Given the description of an element on the screen output the (x, y) to click on. 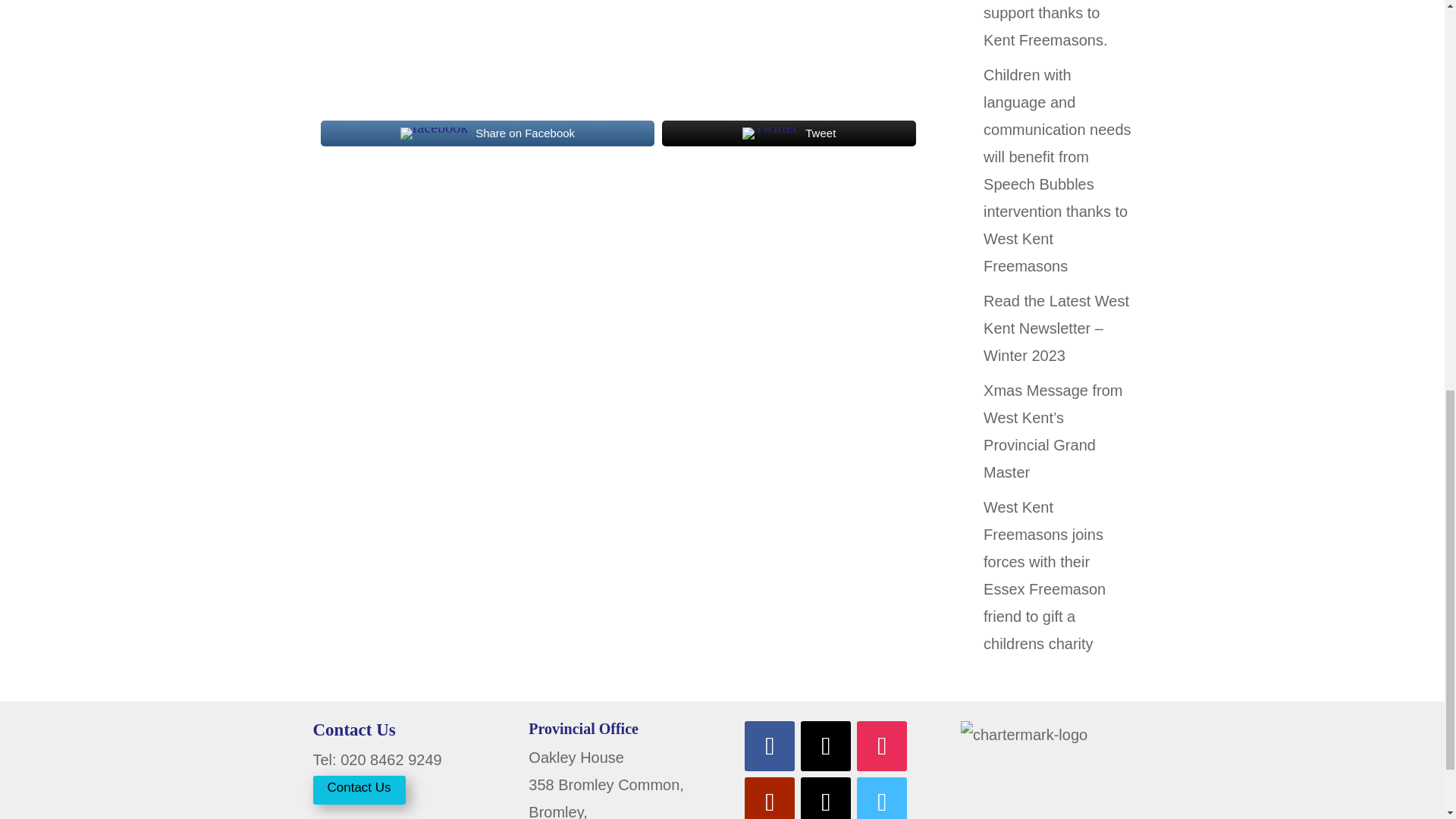
Follow on Youtube (769, 798)
Follow on Vimeo (882, 798)
Follow on TikTok (825, 798)
Follow on Instagram (882, 746)
Follow on Facebook (769, 746)
Follow on X (825, 746)
